Given the description of an element on the screen output the (x, y) to click on. 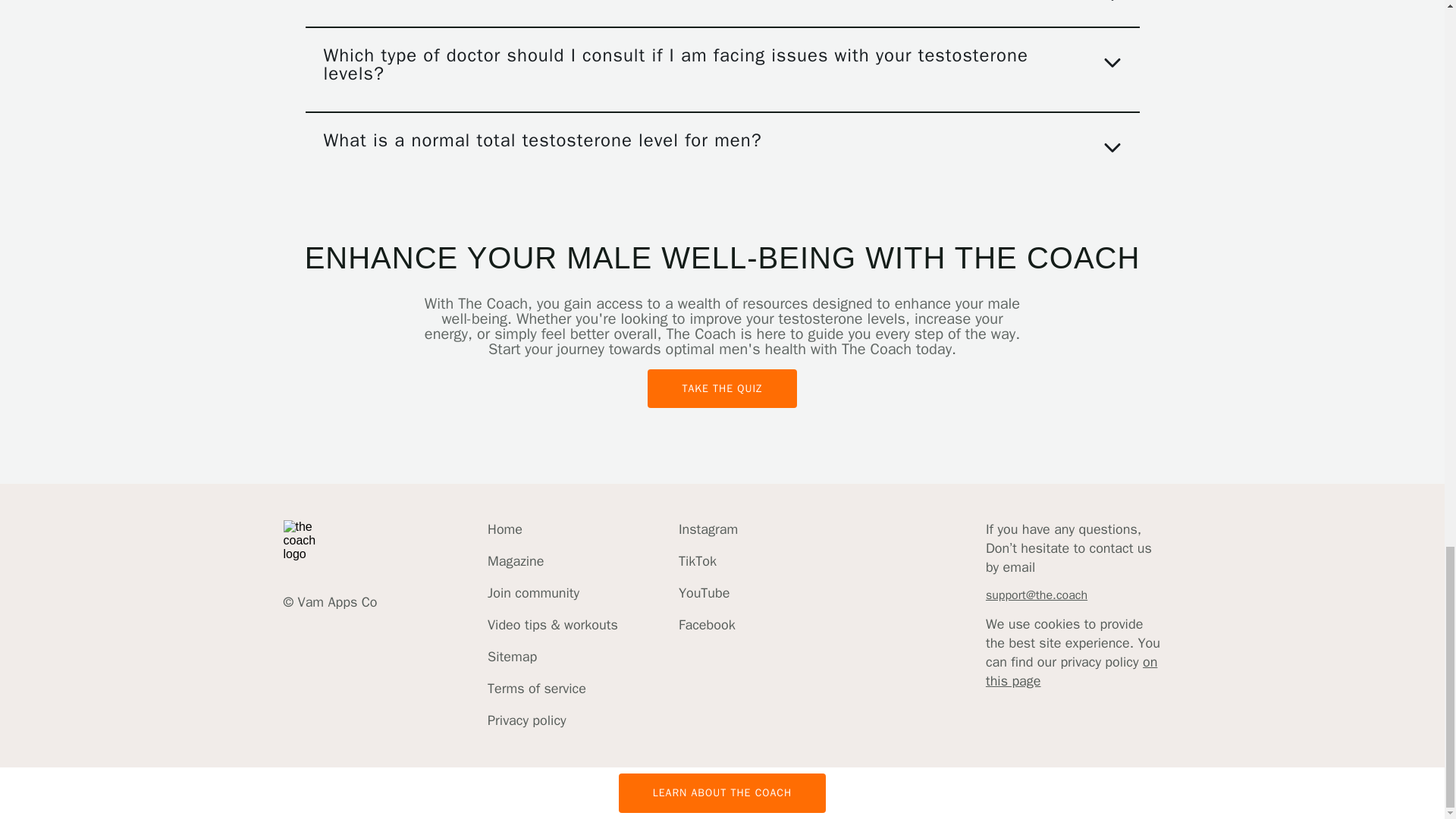
YouTube (708, 592)
Instagram (708, 529)
on this page (1071, 671)
Terms of service (552, 688)
TikTok (708, 561)
Facebook (708, 624)
TAKE THE QUIZ (721, 388)
Privacy policy (552, 720)
Sitemap (552, 656)
